Given the description of an element on the screen output the (x, y) to click on. 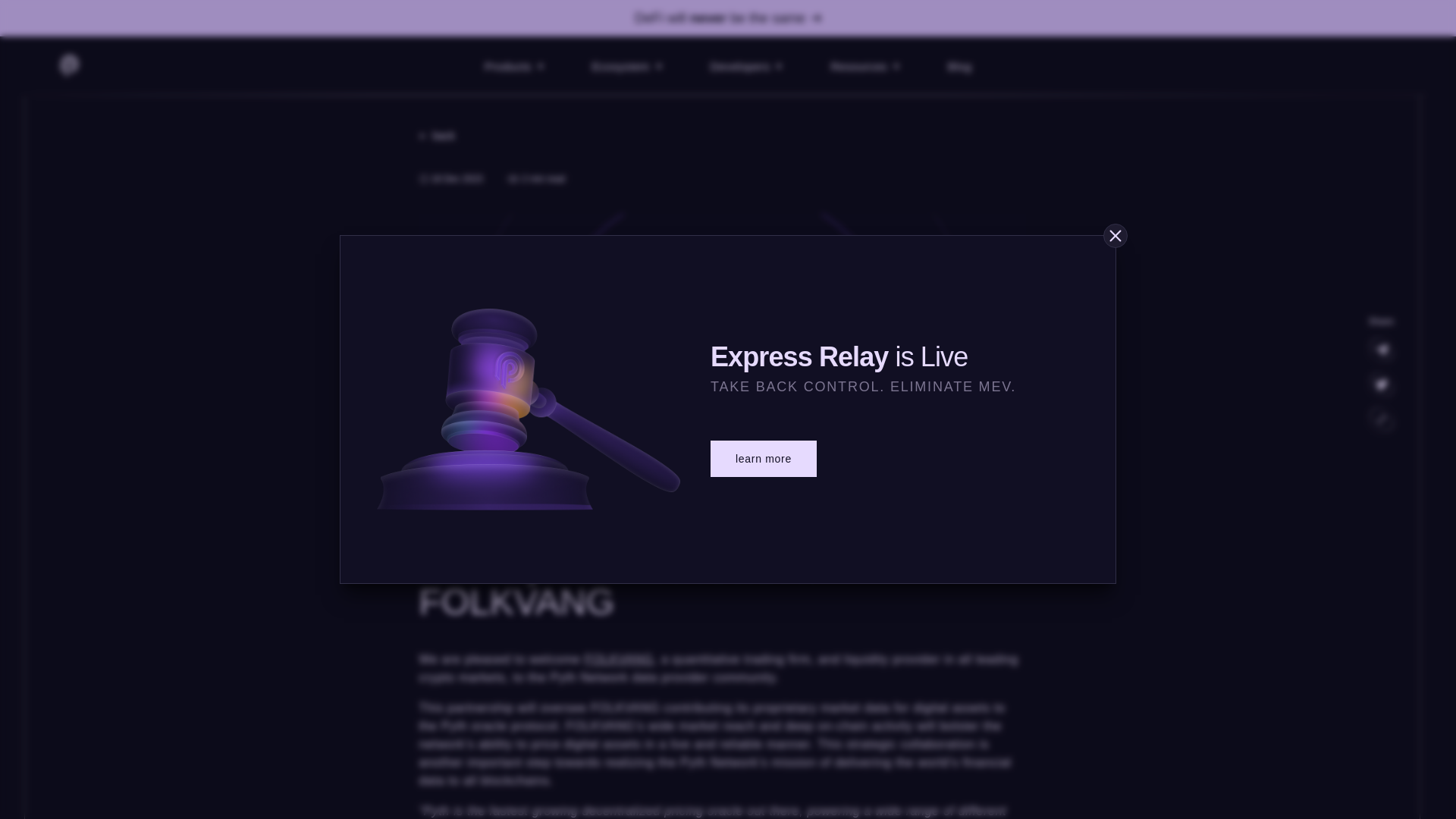
Resources (864, 66)
Products (513, 66)
Developers (745, 66)
Ecosystem (626, 66)
